Given the description of an element on the screen output the (x, y) to click on. 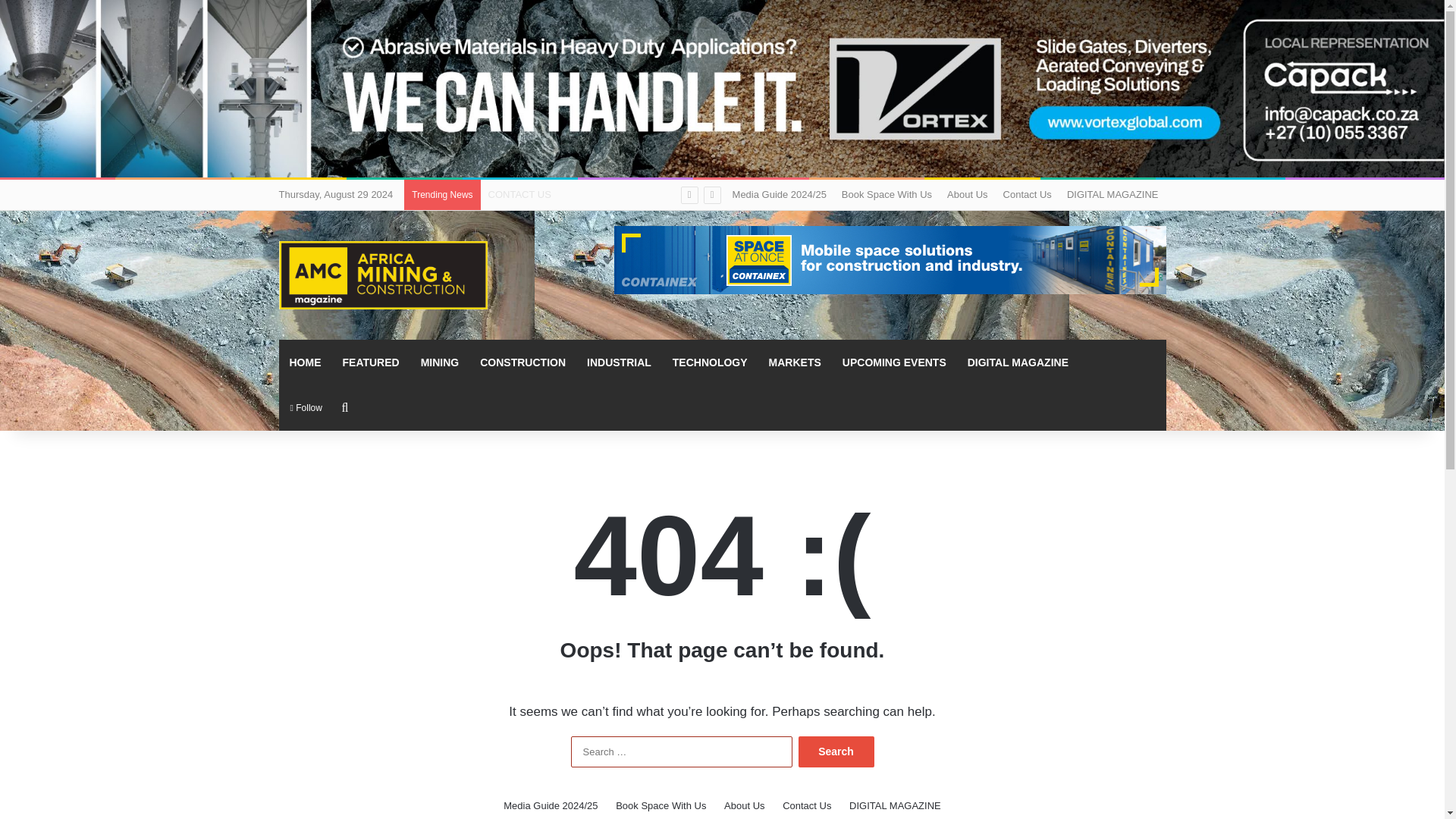
FEATURED (370, 361)
DIGITAL MAGAZINE (1017, 361)
Search (835, 751)
HOME (305, 361)
Follow (306, 407)
MARKETS (794, 361)
Search (835, 751)
DIGITAL MAGAZINE (1112, 194)
CONTACT US (519, 194)
About Us (966, 194)
